Given the description of an element on the screen output the (x, y) to click on. 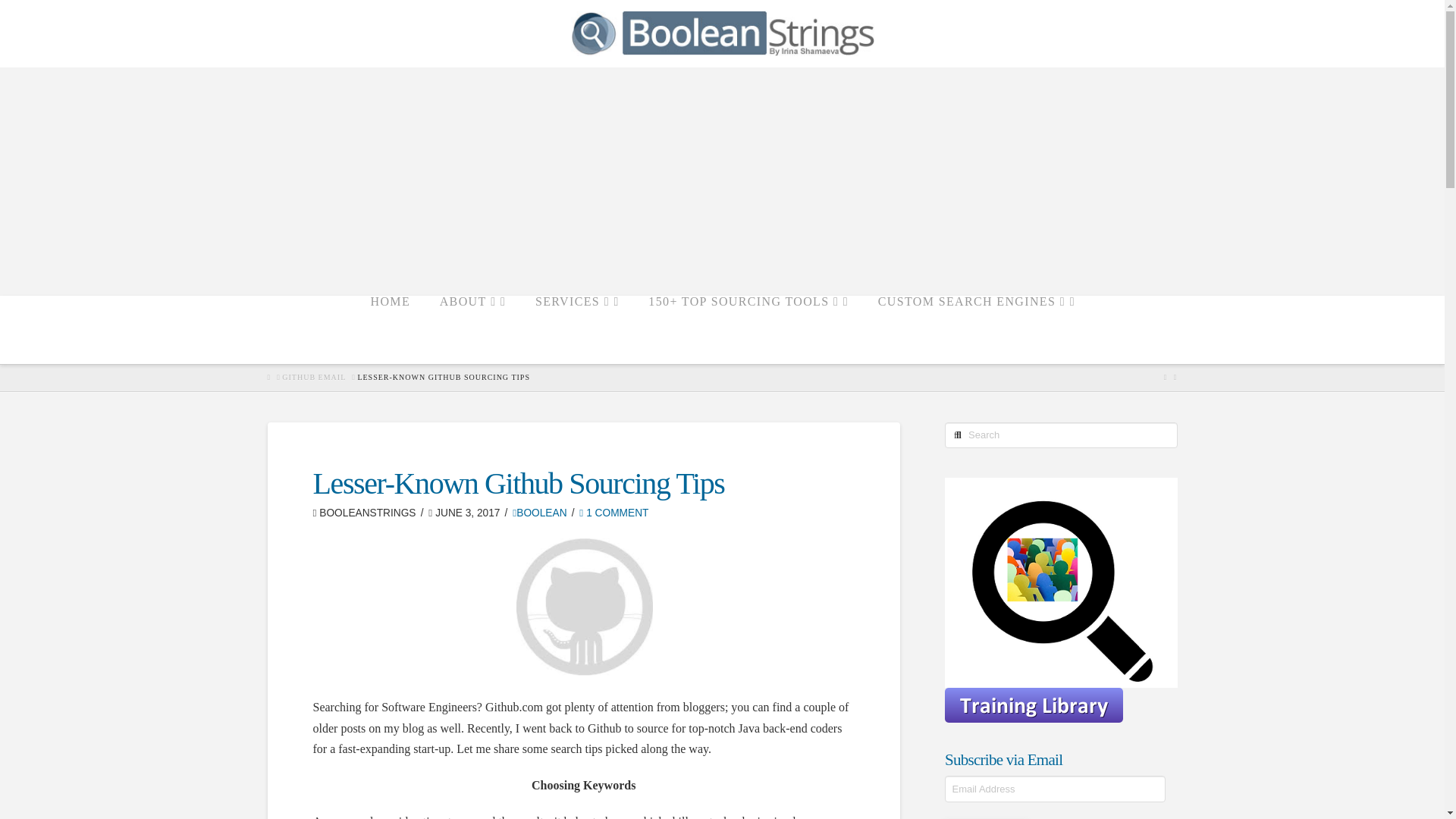
ABOUT (472, 329)
CUSTOM SEARCH ENGINES (976, 329)
GITHUB EMAIL (314, 377)
SERVICES (576, 329)
You Are Here (442, 377)
HOME (389, 329)
